Given the description of an element on the screen output the (x, y) to click on. 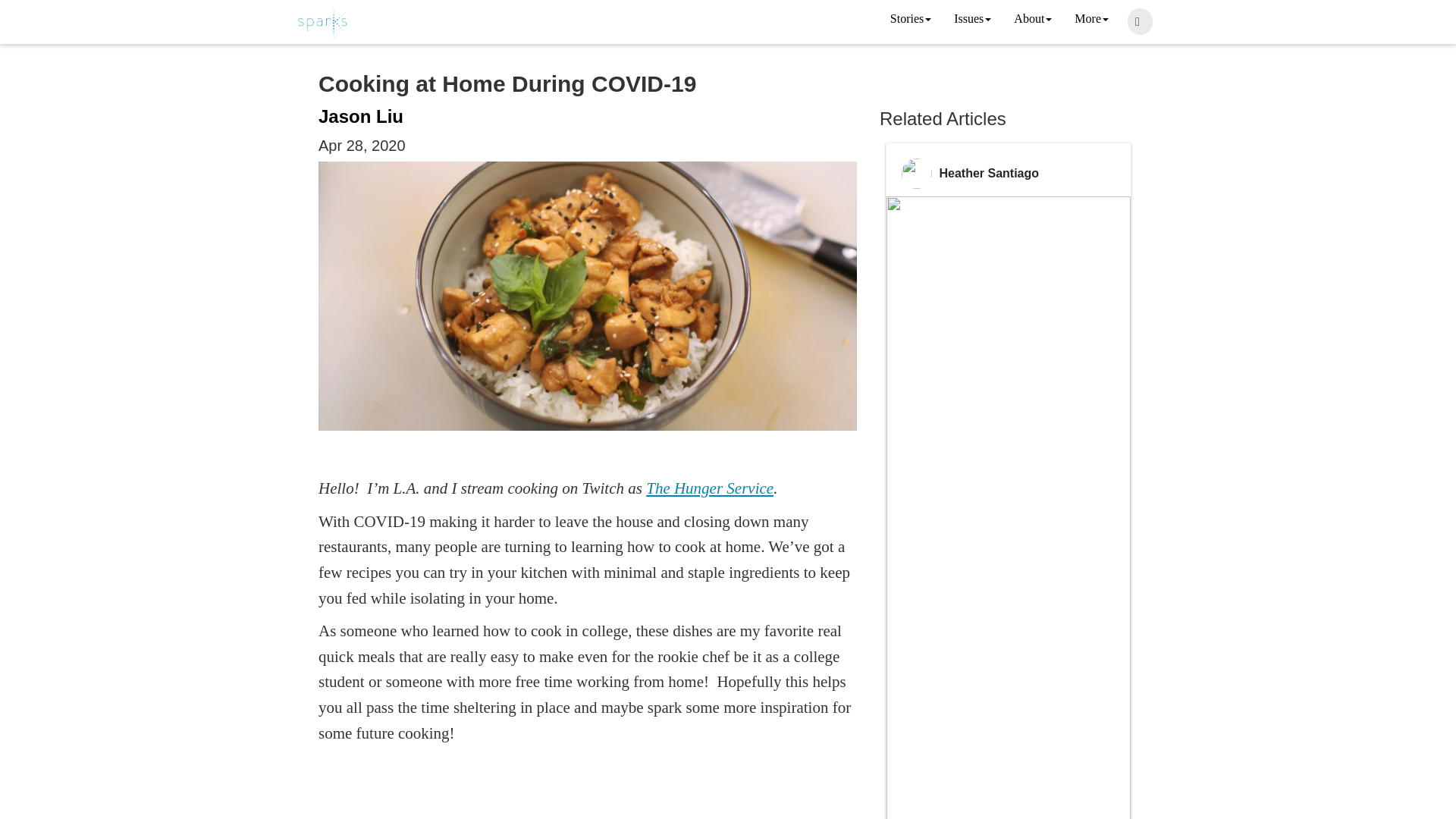
Stories (910, 19)
More (1090, 19)
The Hunger Service (709, 488)
Jason Liu (360, 116)
About (1032, 19)
Heather Santiago (989, 173)
Issues (972, 19)
